Given the description of an element on the screen output the (x, y) to click on. 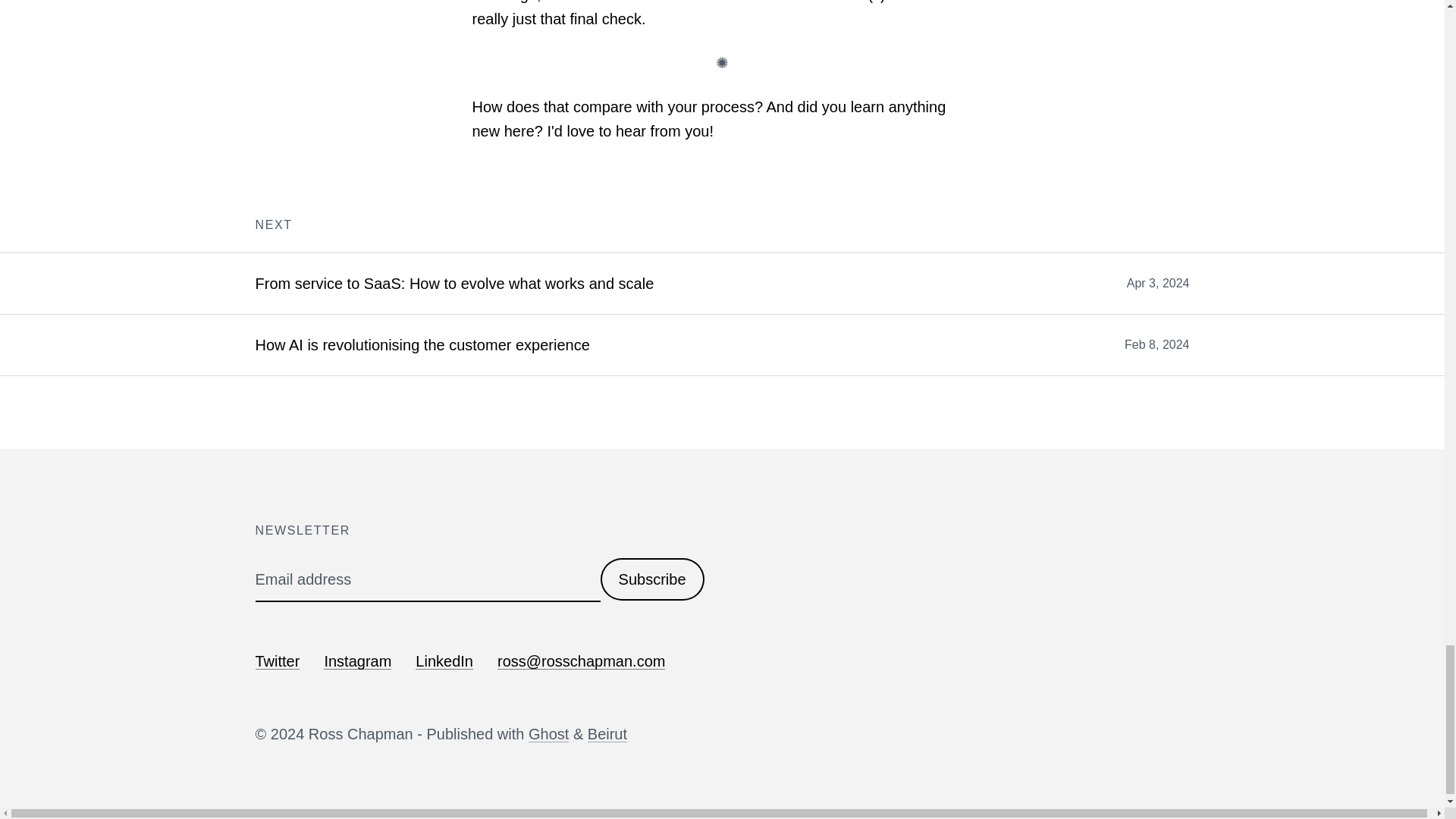
Twitter (276, 660)
Beirut (607, 733)
Ghost (548, 733)
Subscribe (651, 578)
LinkedIn (443, 660)
Instagram (357, 660)
